Given the description of an element on the screen output the (x, y) to click on. 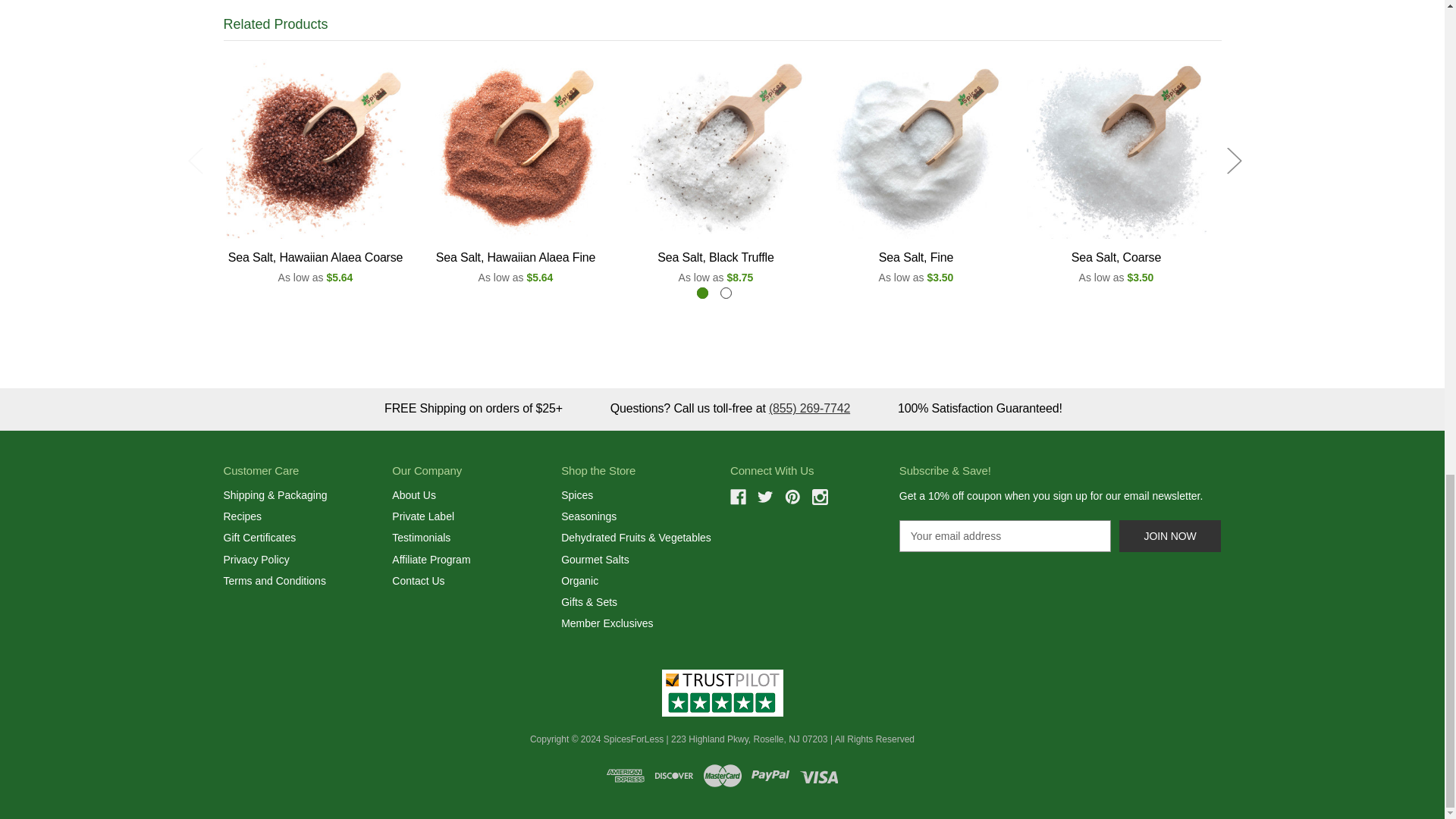
Sea Salt, Fine (916, 148)
Sea Salt, Hawaiian Alaea Fine (515, 148)
Sea Salt, Black Truffle (716, 148)
Sea Salt, Hawaiian Alaea Coarse (315, 148)
Sea Salt, Coarse (1116, 148)
Join Now (1170, 536)
